Given the description of an element on the screen output the (x, y) to click on. 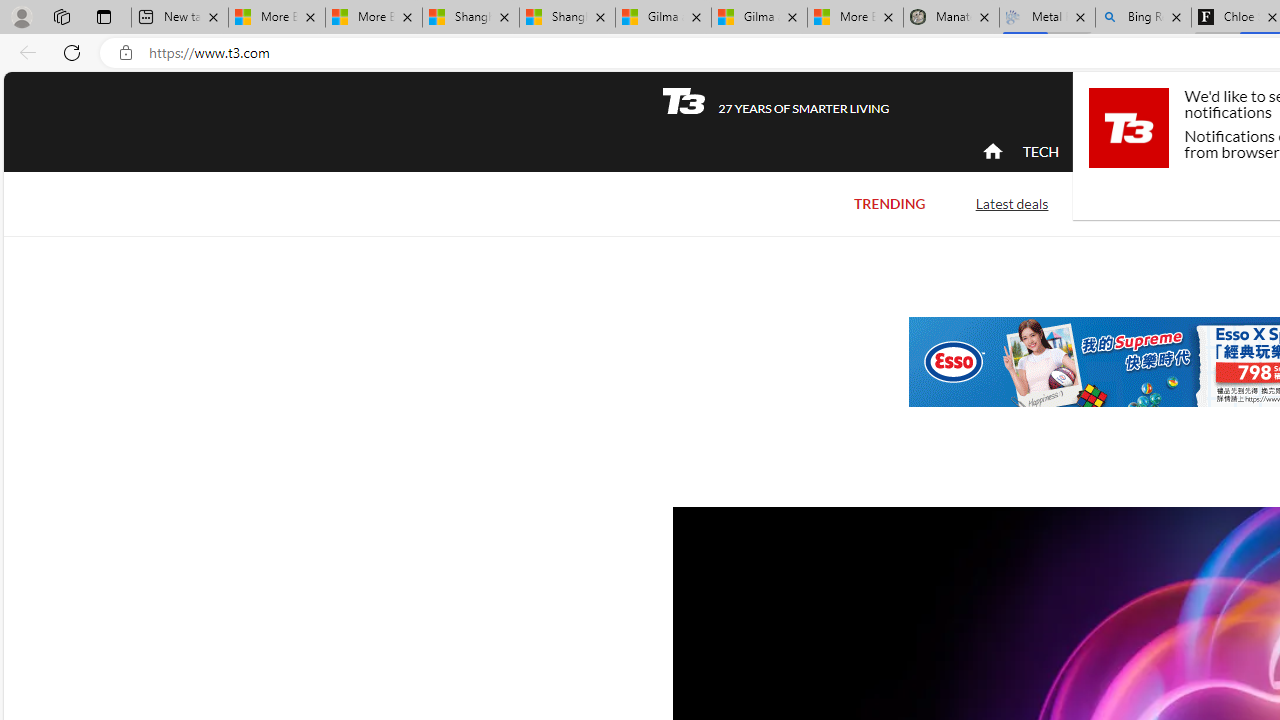
t3.com Logo (1128, 127)
Latest deals (1011, 204)
Bing Real Estate - Home sales and rental listings (1143, 17)
Manatee Mortality Statistics | FWC (951, 17)
Back to Class 2024 (1178, 204)
TECH (1040, 151)
T3 (683, 100)
Back to Class 2024 (1178, 202)
Latest deals (1011, 202)
